Given the description of an element on the screen output the (x, y) to click on. 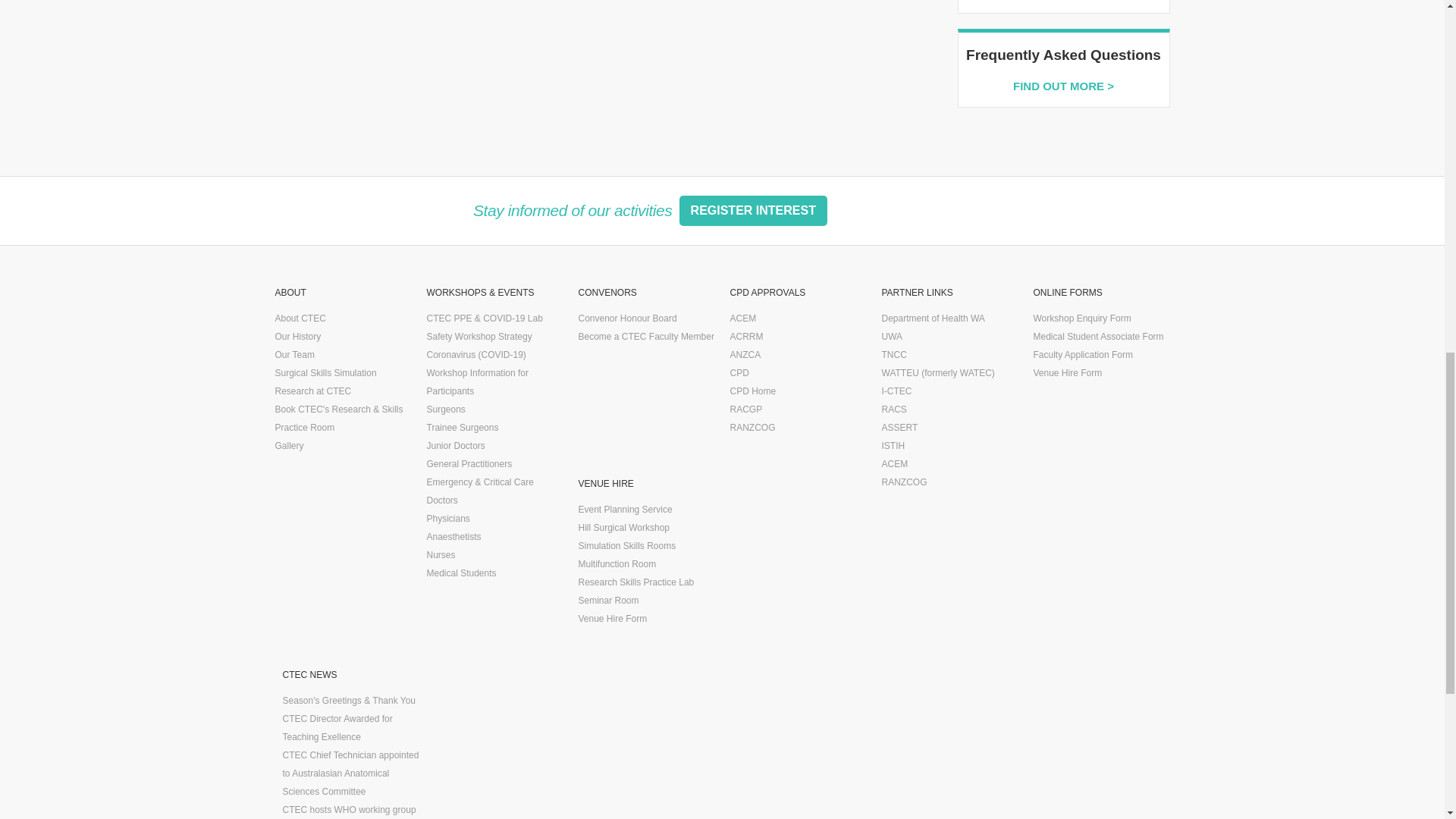
Find out which famous Royal officially opened CTEC (297, 336)
